Given the description of an element on the screen output the (x, y) to click on. 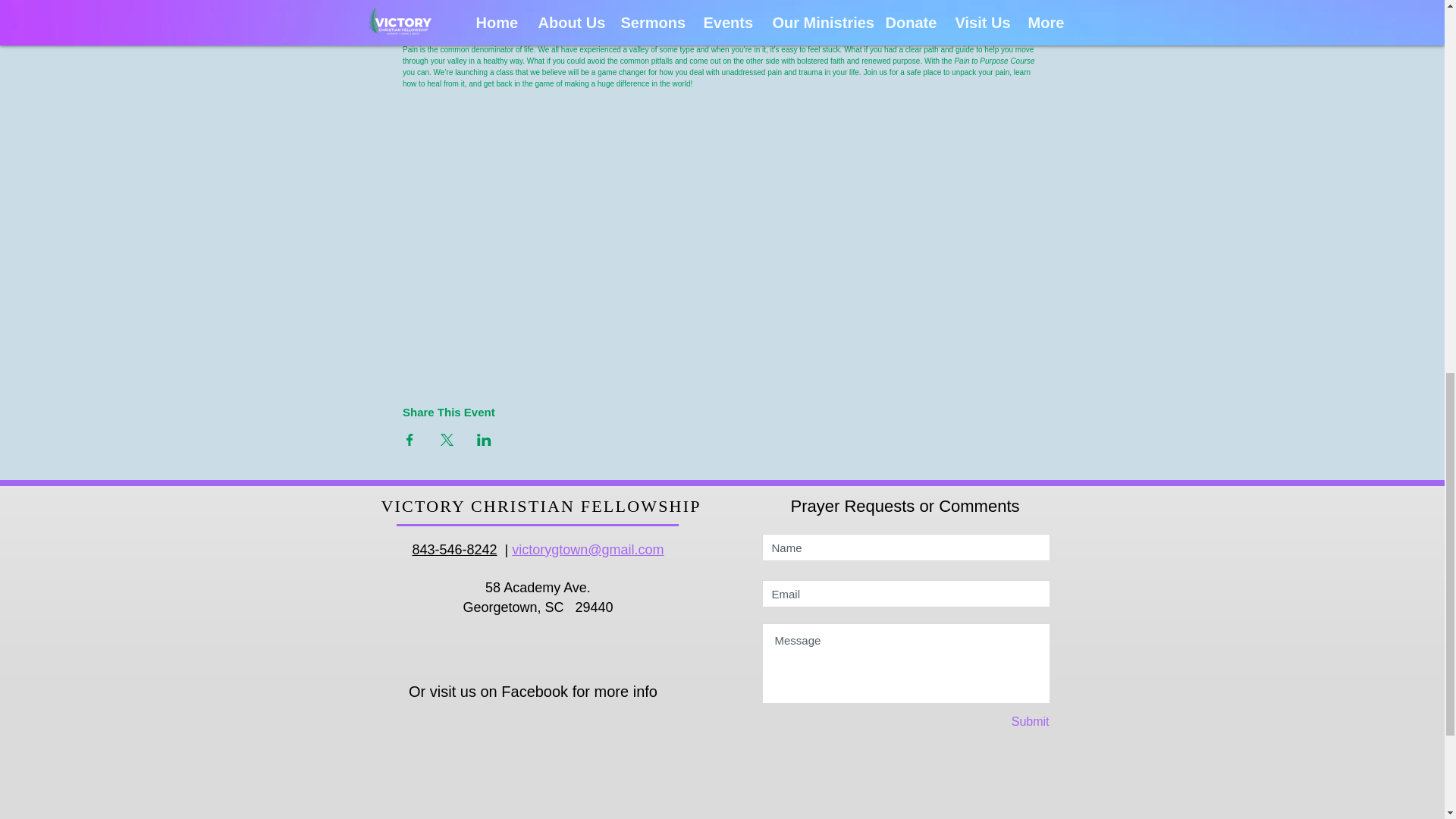
Submit (995, 722)
Facebook Like (542, 725)
victorygt (537, 549)
843-546-8242 (454, 549)
